Given the description of an element on the screen output the (x, y) to click on. 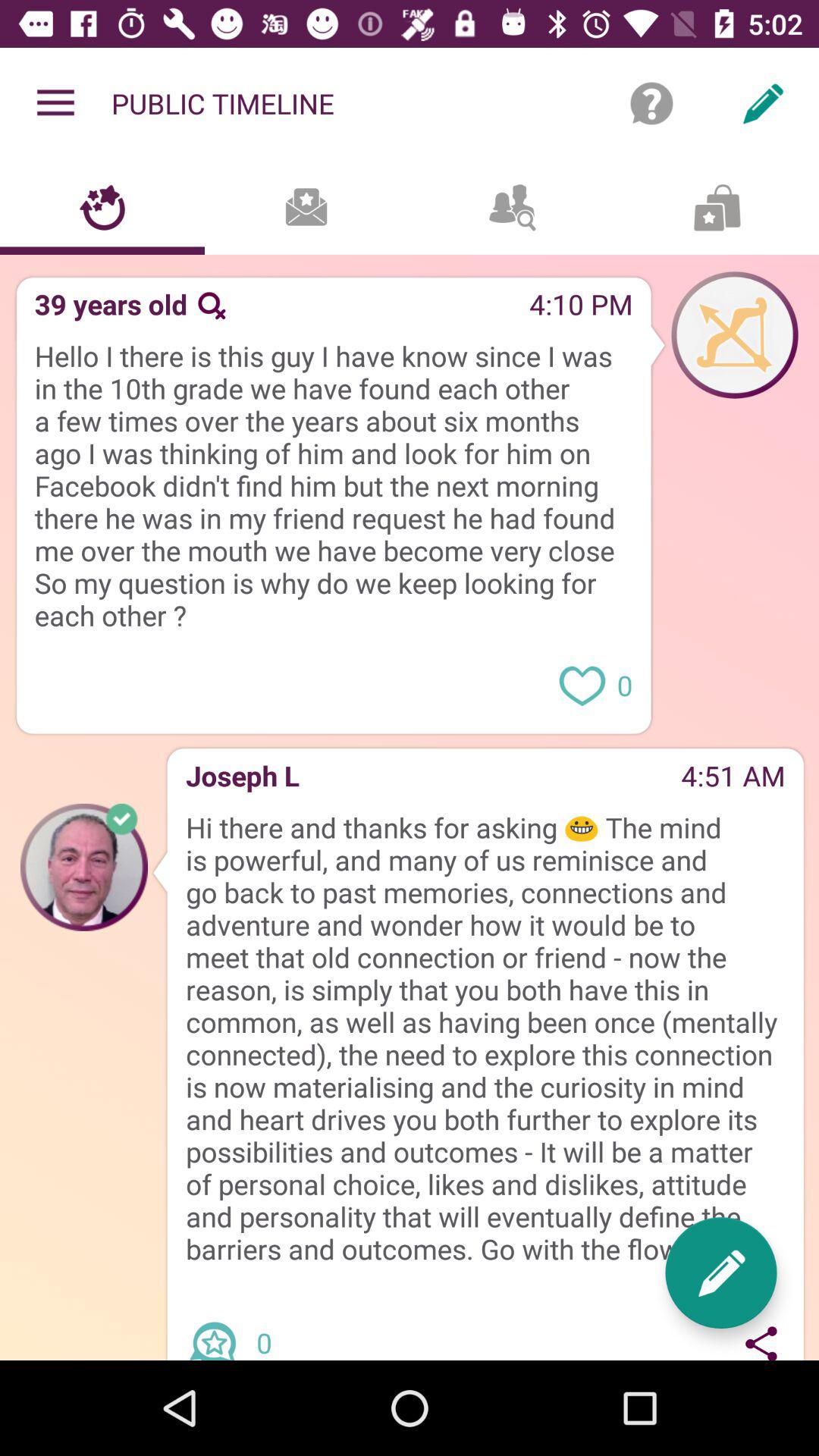
press icon next to public timeline icon (651, 103)
